Given the description of an element on the screen output the (x, y) to click on. 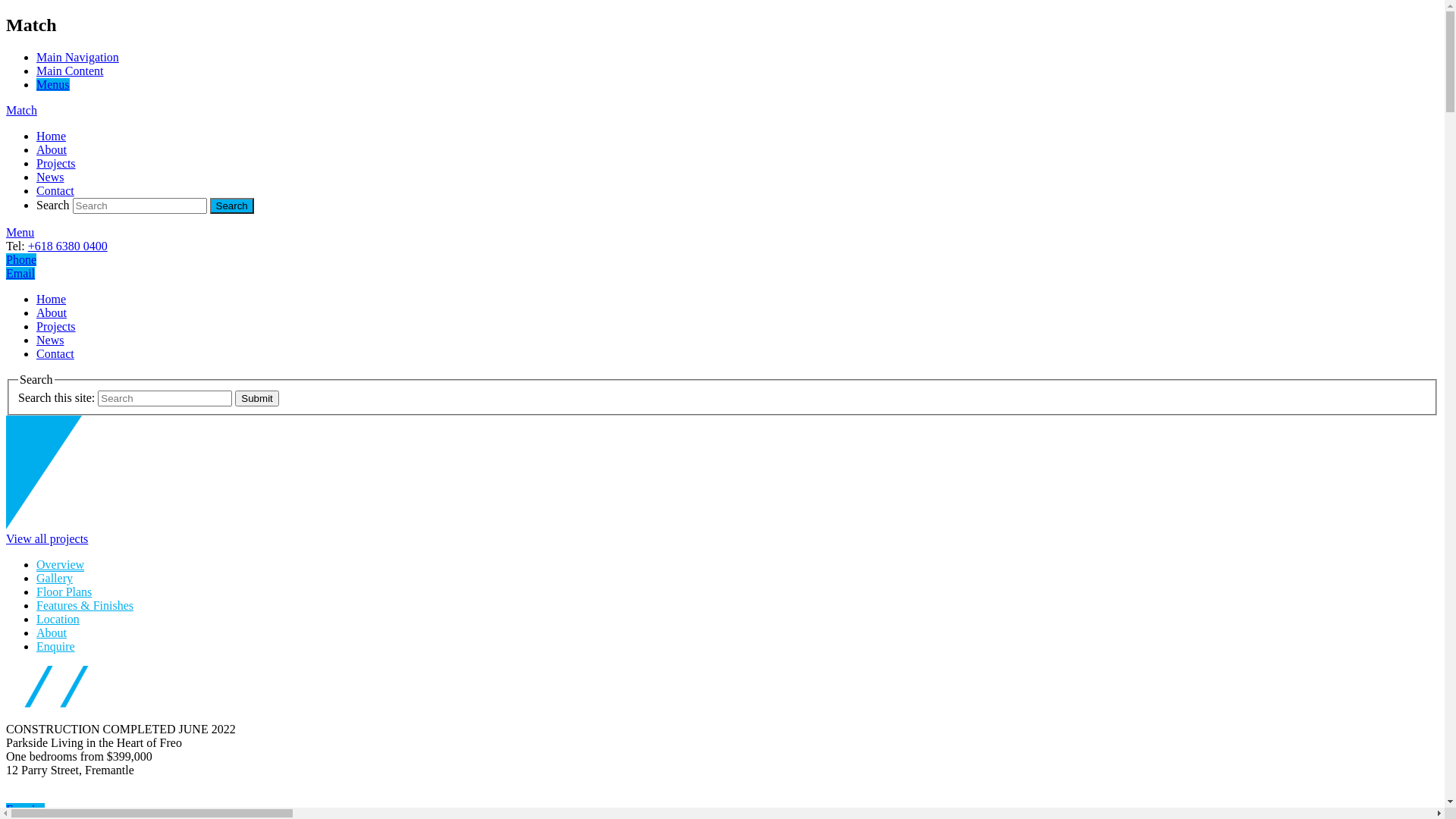
Search Element type: text (232, 205)
+618 6380 0400 Element type: text (67, 245)
Menus Element type: text (52, 84)
Main Navigation Element type: text (77, 56)
Projects Element type: text (55, 326)
Match Element type: text (21, 109)
Contact Element type: text (55, 190)
Enquire Element type: text (25, 809)
Menu Element type: text (20, 231)
Enquire Element type: text (55, 646)
Location Element type: text (57, 618)
Main Content Element type: text (69, 70)
Overview Element type: text (60, 564)
Features & Finishes Element type: text (84, 605)
Projects Element type: text (55, 162)
View all projects Element type: text (46, 538)
Home Element type: text (50, 135)
Gallery Element type: text (54, 577)
News Element type: text (49, 339)
About Element type: text (51, 149)
About Element type: text (51, 632)
Home Element type: text (50, 298)
Submit Element type: text (256, 398)
News Element type: text (49, 176)
Floor Plans Element type: text (63, 591)
About Element type: text (51, 312)
Phone Element type: text (21, 259)
Contact Element type: text (55, 353)
Email Element type: text (20, 272)
